Given the description of an element on the screen output the (x, y) to click on. 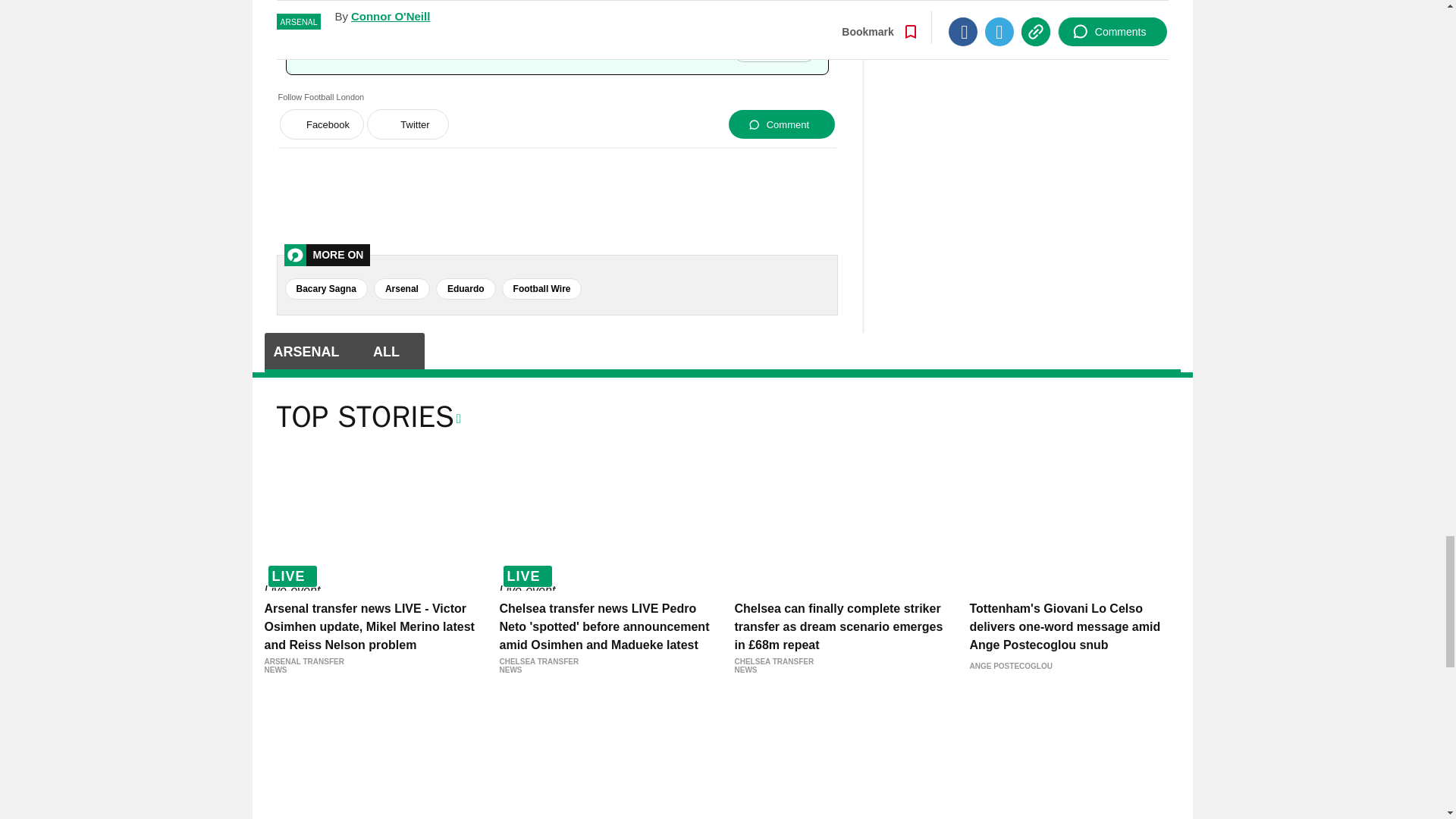
Copy Link (487, 48)
Whatsapp (461, 48)
Twitter (435, 48)
Facebook (410, 48)
